Given the description of an element on the screen output the (x, y) to click on. 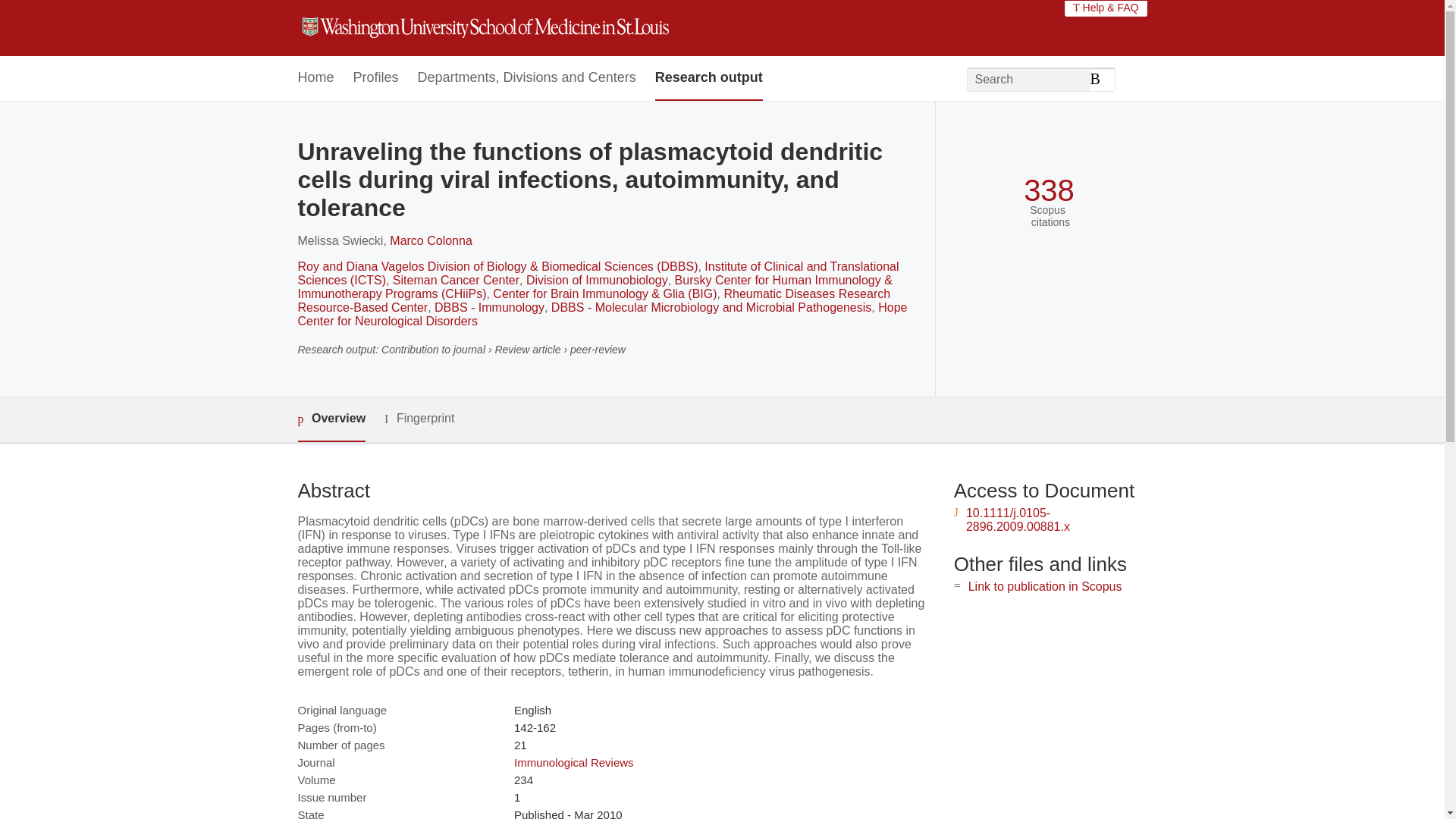
Marco Colonna (430, 240)
338 (1048, 190)
Siteman Cancer Center (456, 279)
Immunological Reviews (573, 762)
Research output (708, 78)
Departments, Divisions and Centers (526, 78)
DBBS - Immunology (488, 307)
Fingerprint (419, 418)
Rheumatic Diseases Research Resource-Based Center (593, 300)
Hope Center for Neurological Disorders (602, 314)
Link to publication in Scopus (1045, 585)
Profiles (375, 78)
DBBS - Molecular Microbiology and Microbial Pathogenesis (710, 307)
